Given the description of an element on the screen output the (x, y) to click on. 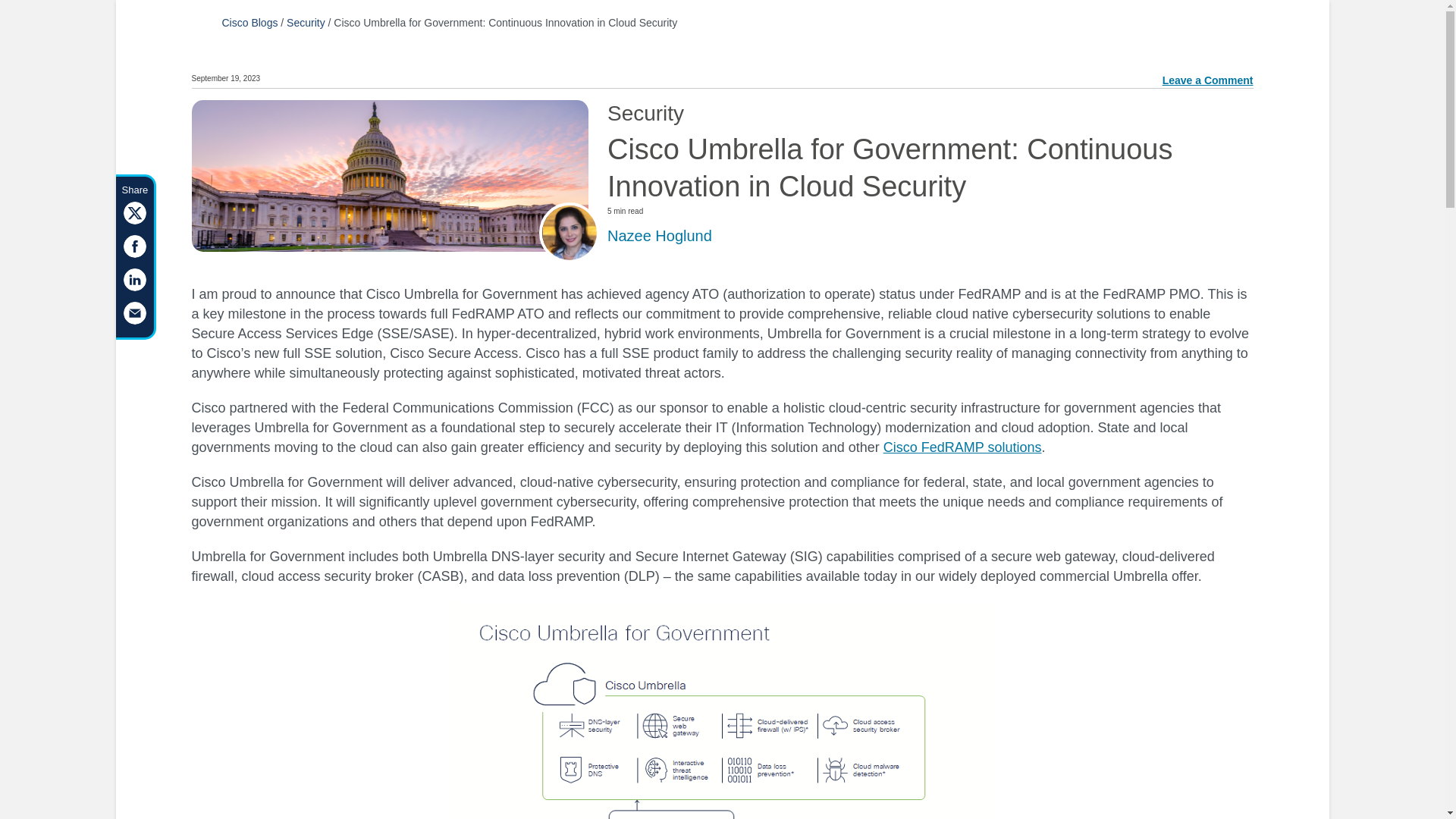
Security (305, 22)
Cisco FedRAMP solutions (962, 447)
Nazee Hoglund (659, 235)
Cisco Blogs (249, 22)
Posts by Nazee Hoglund (659, 235)
